Given the description of an element on the screen output the (x, y) to click on. 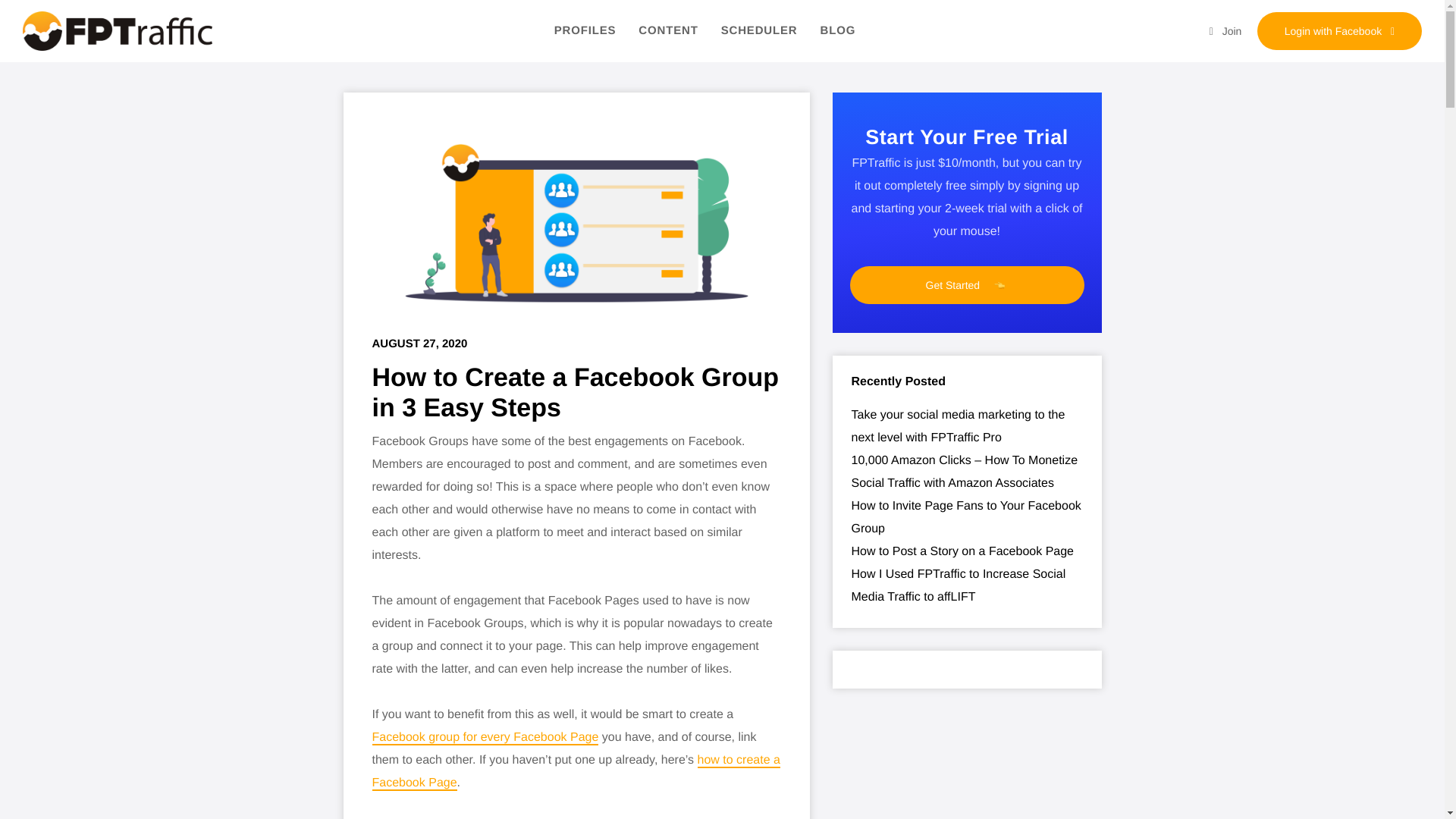
  Join (1225, 30)
Get Started (965, 284)
BLOG (838, 30)
CONTENT (668, 30)
PROFILES (584, 30)
SCHEDULER (758, 30)
How to Invite Page Fans to Your Facebook Group (965, 517)
How to Create a Facebook Group in 3 Easy Steps (575, 229)
How to Post a Story on a Facebook Page (962, 551)
Facebook group for every Facebook Page (484, 738)
Login with Facebook   (1339, 30)
how to create a Facebook Page (574, 772)
How to create a Facebook Page (574, 772)
